Given the description of an element on the screen output the (x, y) to click on. 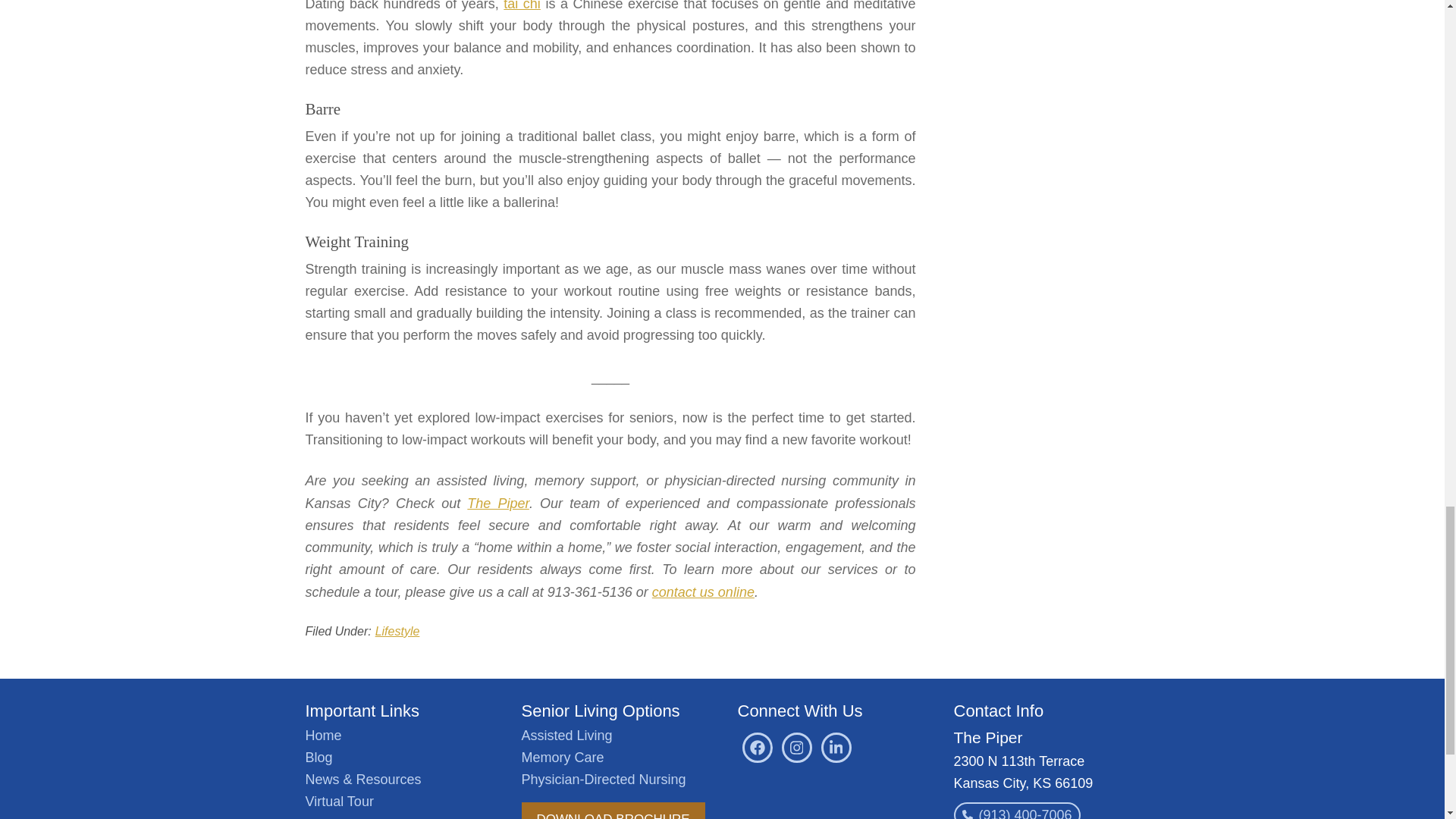
Lifestyle (397, 631)
The Piper (498, 503)
Facebook (756, 747)
Instagram (795, 747)
Virtual Tour (338, 801)
Linkedin (835, 747)
Photo Gallery (345, 817)
Home (322, 735)
contact us online (703, 591)
Blog (317, 757)
